Given the description of an element on the screen output the (x, y) to click on. 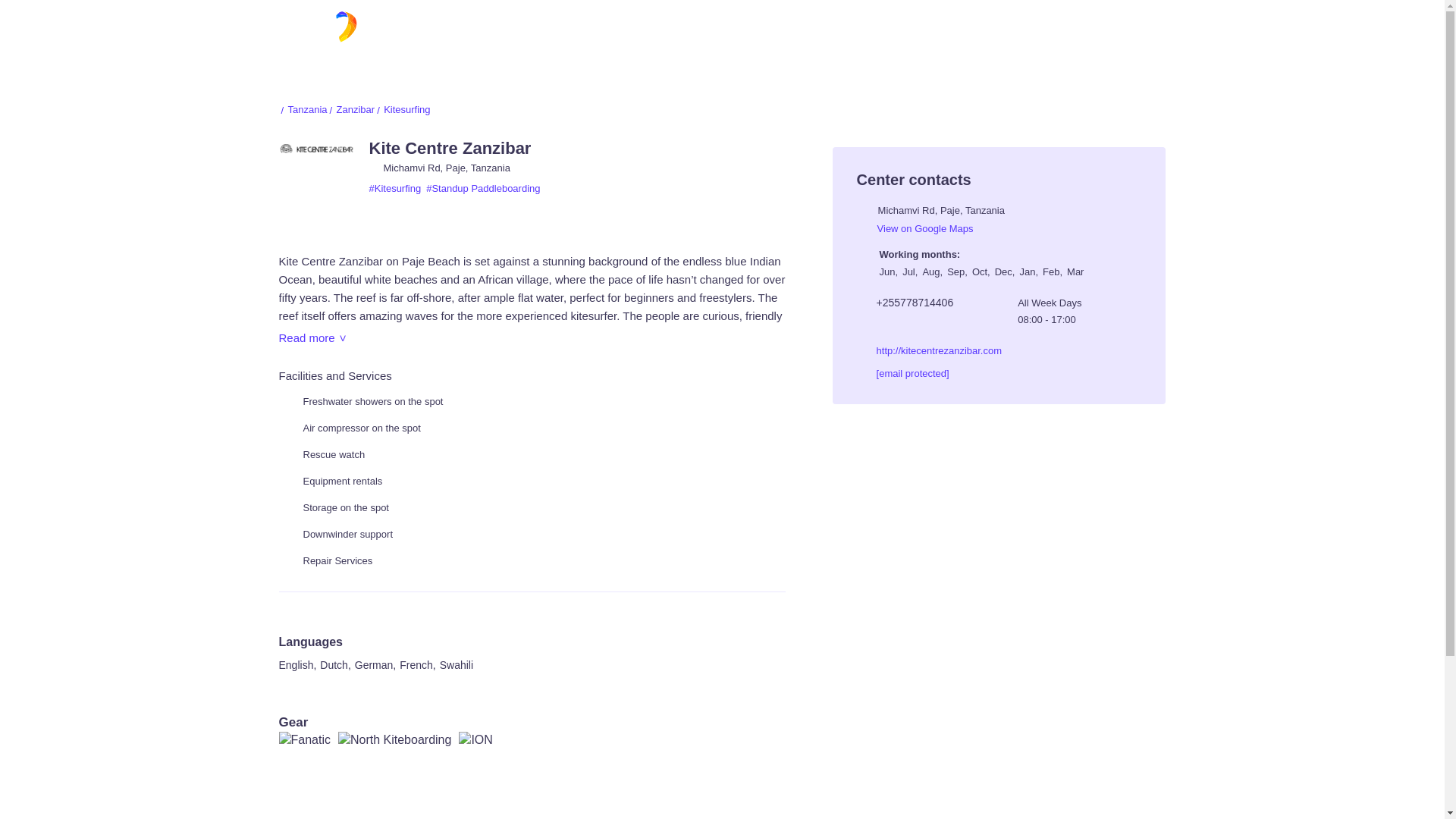
center phone (905, 302)
Read more (312, 338)
website (929, 350)
View on Google Maps (915, 228)
Back to center list by activity (401, 109)
Tanzania (303, 109)
Back to center list by region (351, 109)
logo (722, 34)
Back to center list by country (303, 109)
email (903, 373)
